Given the description of an element on the screen output the (x, y) to click on. 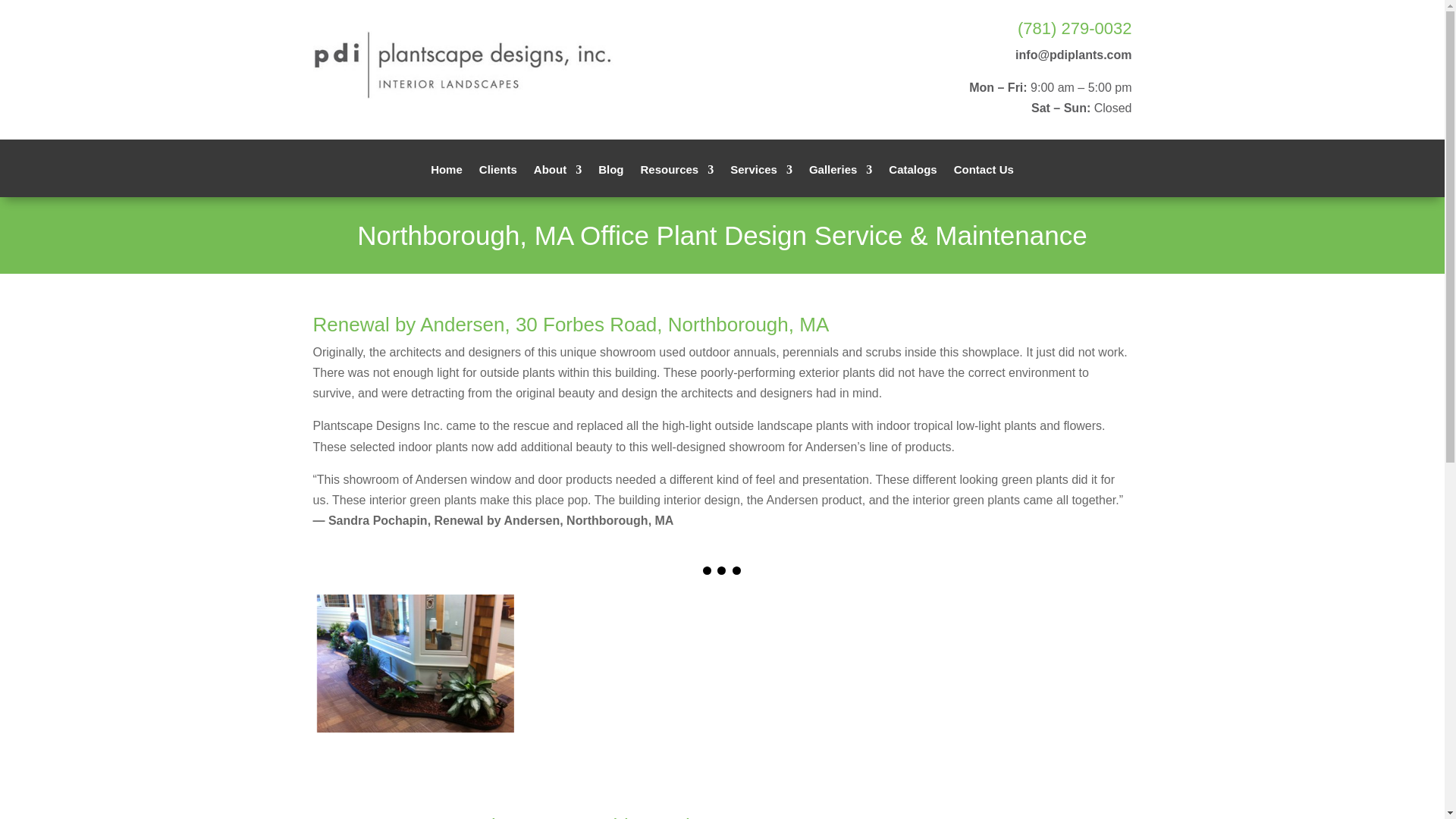
Renewal by Andersen, 30 Forbes Road, Northborough, MA (570, 323)
About (557, 180)
Home (446, 180)
Pongo, 168 East Main Street, Northborough, MA (524, 816)
Services (761, 180)
Galleries (840, 180)
Contact Us (983, 180)
Clients (497, 180)
northborough-andersen-1 (415, 663)
Resources (676, 180)
